Given the description of an element on the screen output the (x, y) to click on. 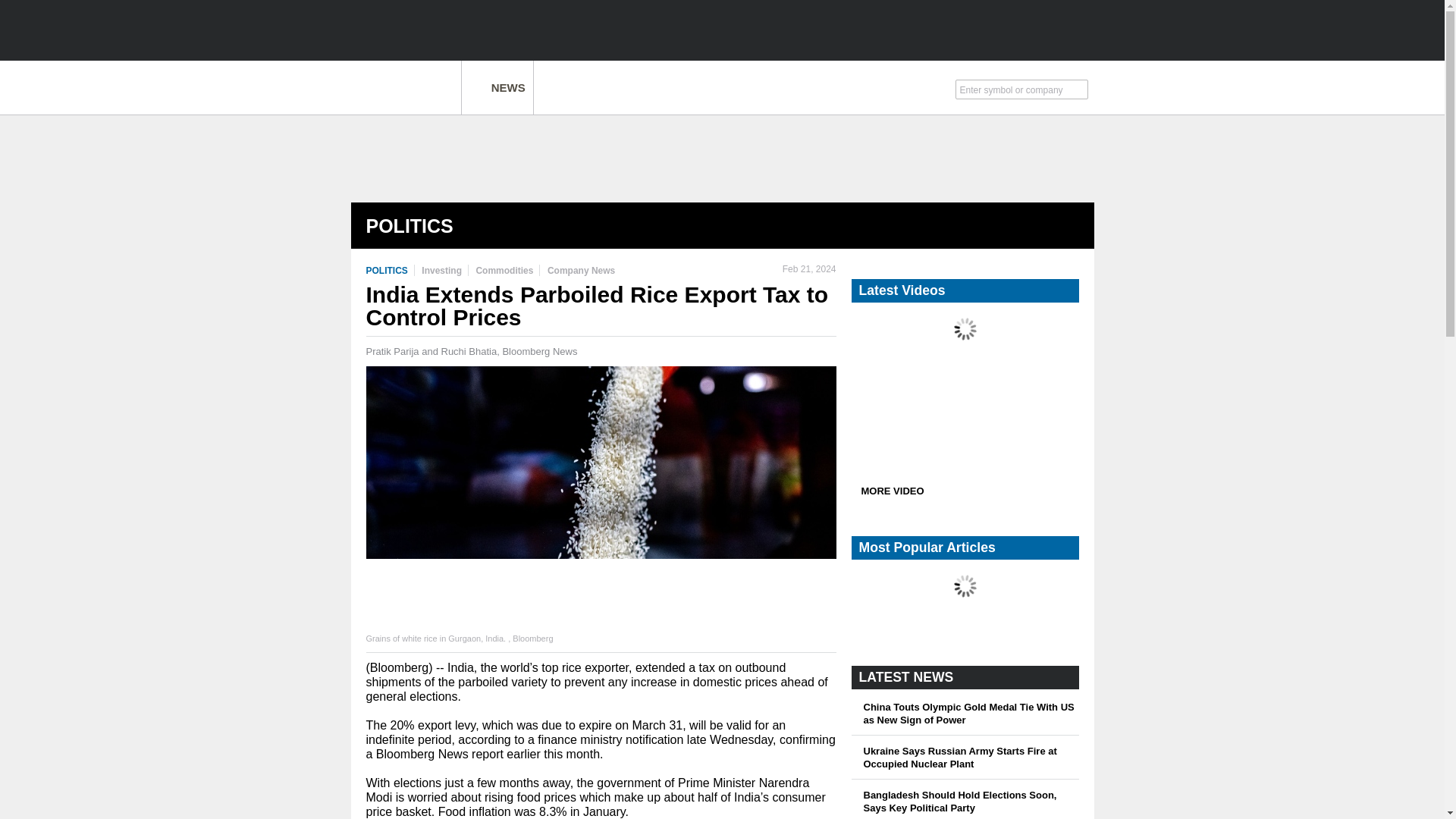
Enter symbol or company (1014, 88)
Search (1079, 91)
Search (1079, 91)
Search (1079, 91)
NEWS (496, 87)
Enter symbol or company (1014, 88)
Grains of white rice in Gurgaon, India., Bloomberg (600, 498)
